Given the description of an element on the screen output the (x, y) to click on. 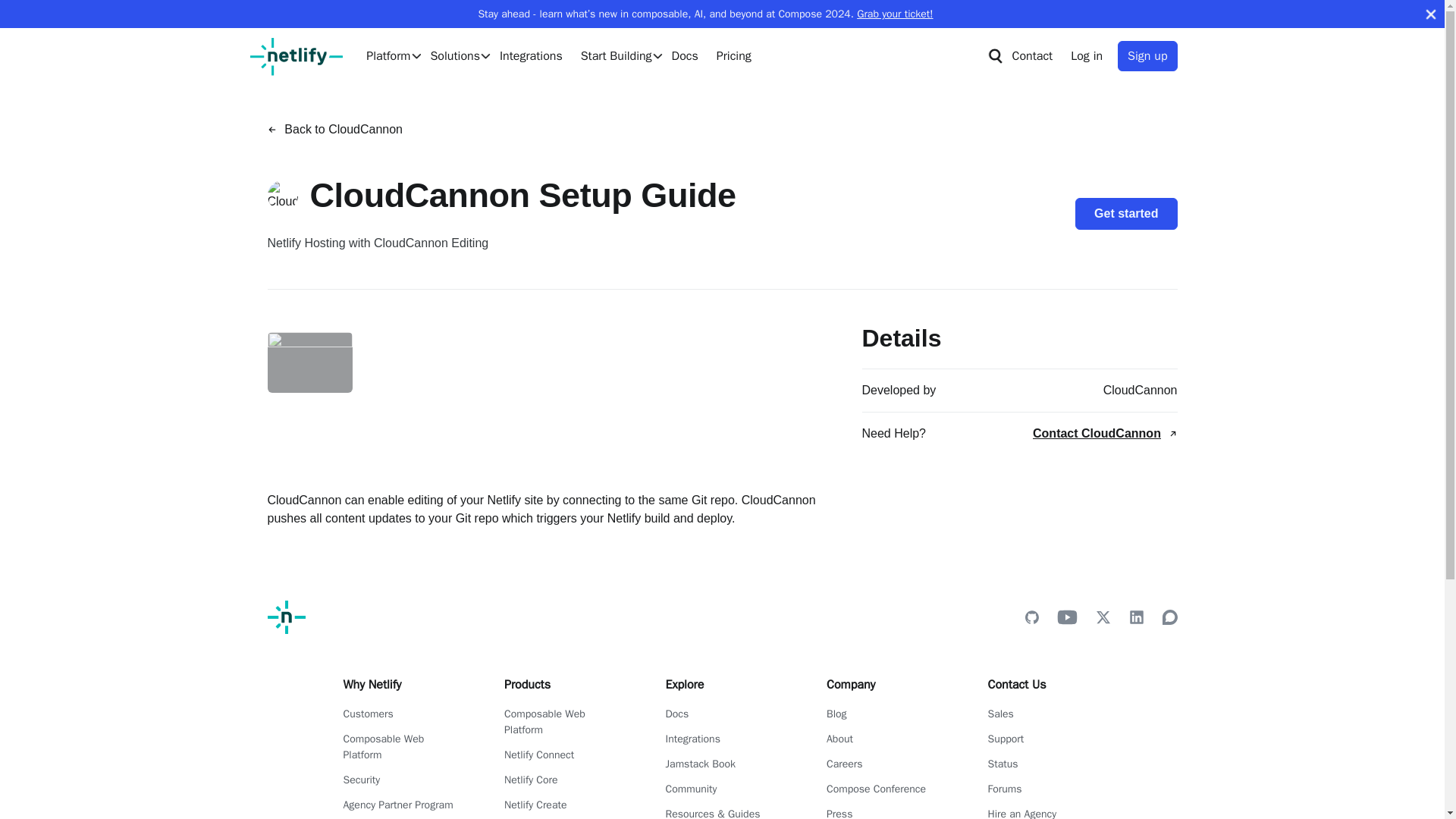
Grab your ticket! (895, 13)
Go to homepage (296, 56)
Integrations (531, 55)
Close announcement bar (1430, 13)
